Given the description of an element on the screen output the (x, y) to click on. 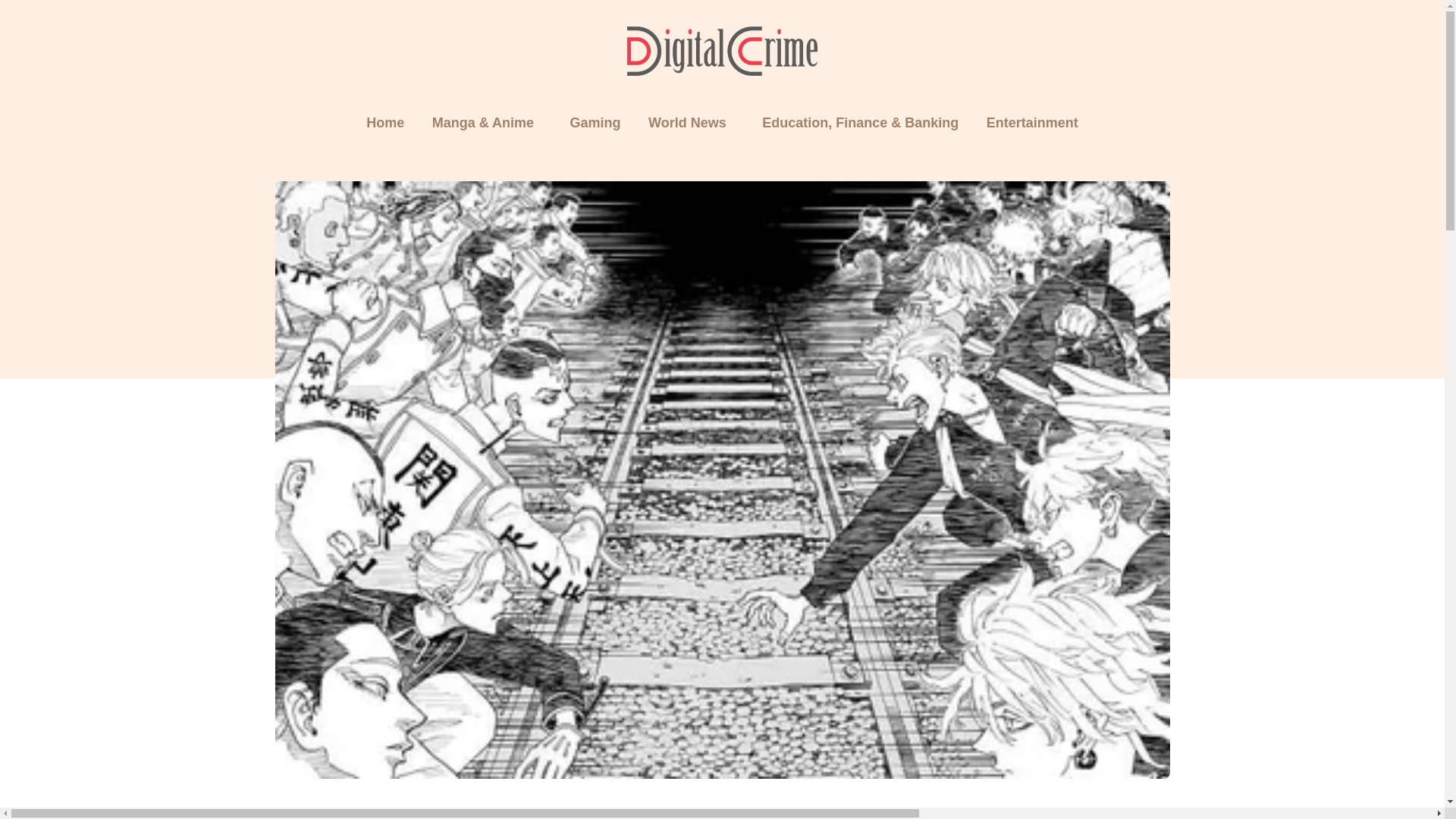
Gaming (595, 123)
Home (384, 123)
Entertainment (1032, 123)
World News (687, 123)
